Given the description of an element on the screen output the (x, y) to click on. 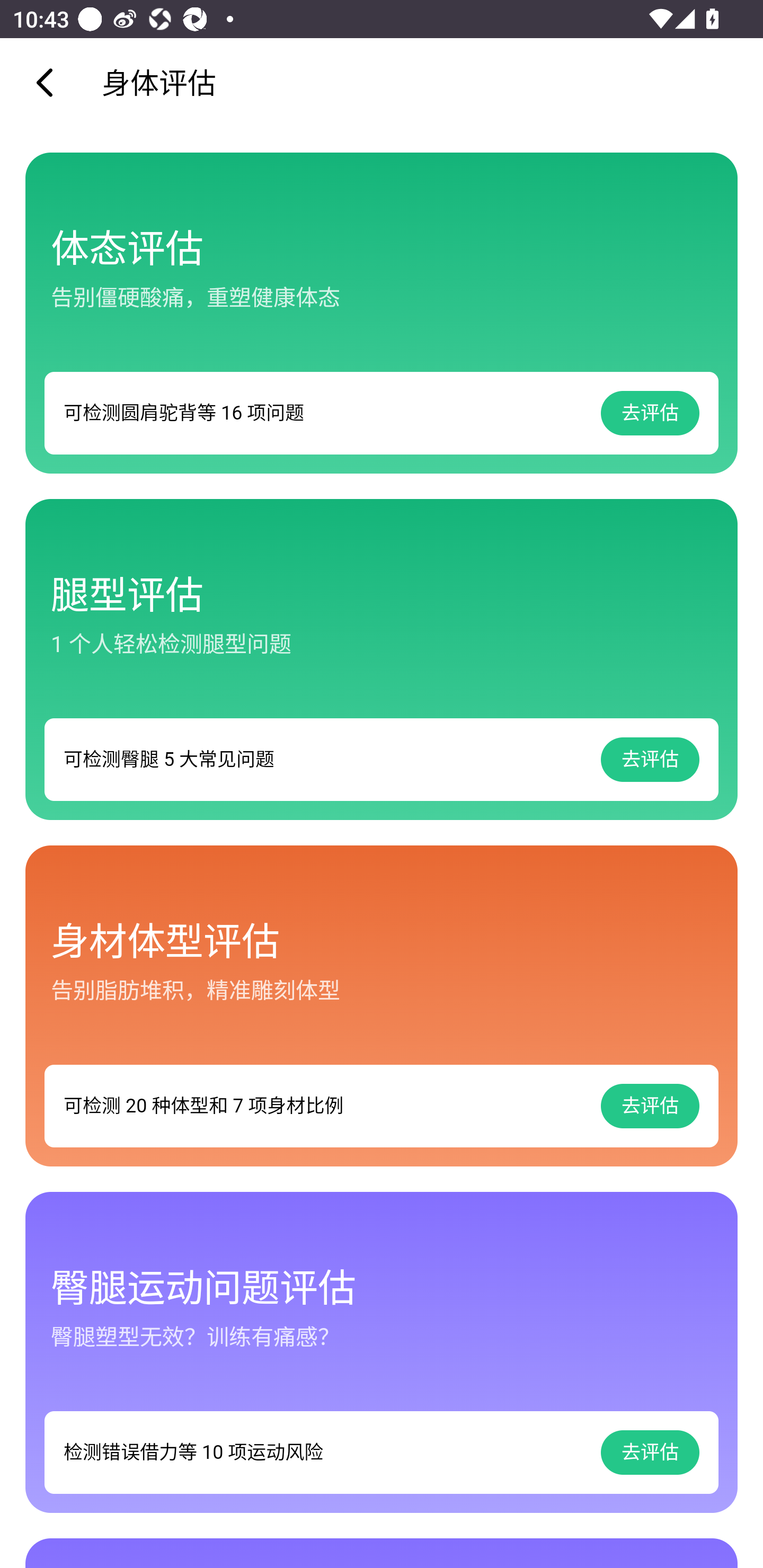
Left Button In Title Bar (50, 82)
1 (381, 312)
1 (381, 659)
1 (381, 1005)
1 (381, 1352)
